Given the description of an element on the screen output the (x, y) to click on. 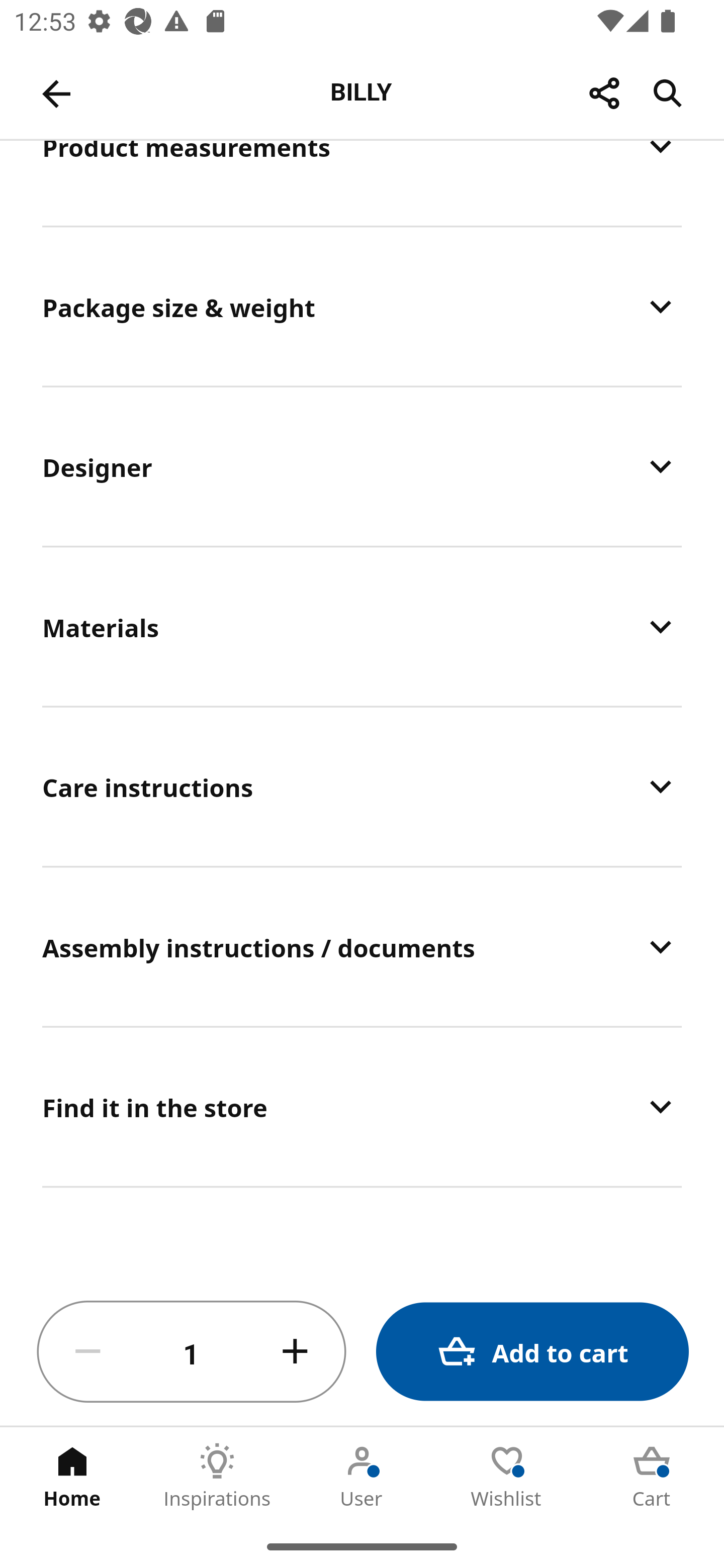
Product measurements (361, 182)
Package size & weight (361, 306)
Designer (361, 466)
Materials (361, 626)
Care instructions (361, 785)
Assembly instructions / documents (361, 945)
Find it in the store (361, 1105)
Add to cart (531, 1352)
1 (191, 1352)
Home
Tab 1 of 5 (72, 1476)
Inspirations
Tab 2 of 5 (216, 1476)
User
Tab 3 of 5 (361, 1476)
Wishlist
Tab 4 of 5 (506, 1476)
Cart
Tab 5 of 5 (651, 1476)
